Given the description of an element on the screen output the (x, y) to click on. 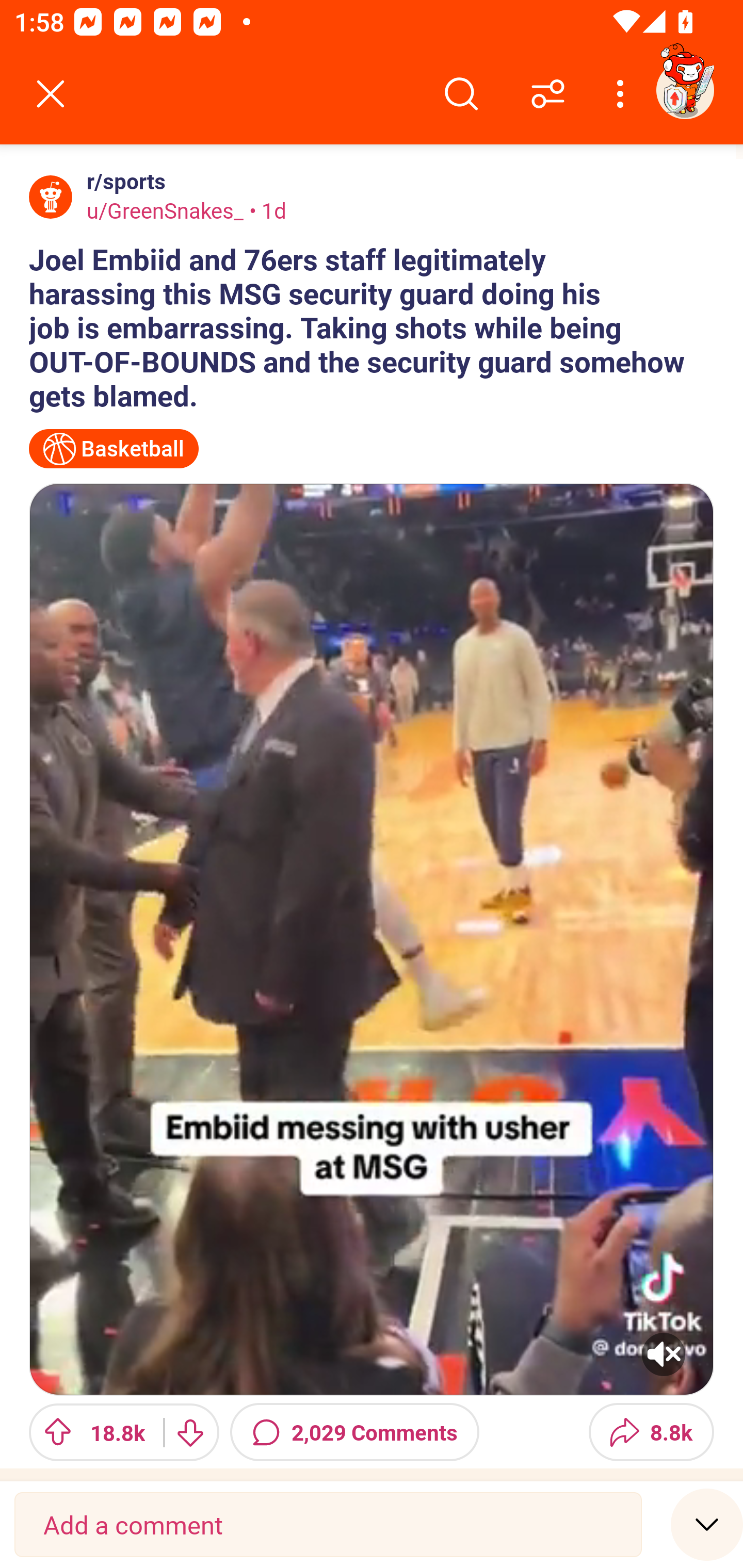
Back (50, 93)
TestAppium002 account (685, 90)
Search comments (460, 93)
Sort comments (547, 93)
More options (623, 93)
r/sports (122, 181)
Avatar (50, 196)
u/GreenSnakes_ (164, 210)
￼ Basketball (113, 448)
Unmute (371, 938)
Unmute (663, 1354)
Upvote 18.8k (88, 1432)
Downvote (189, 1432)
2,029 Comments (354, 1432)
Share 8.8k (651, 1432)
Speed read (706, 1524)
Add a comment (327, 1524)
